Given the description of an element on the screen output the (x, y) to click on. 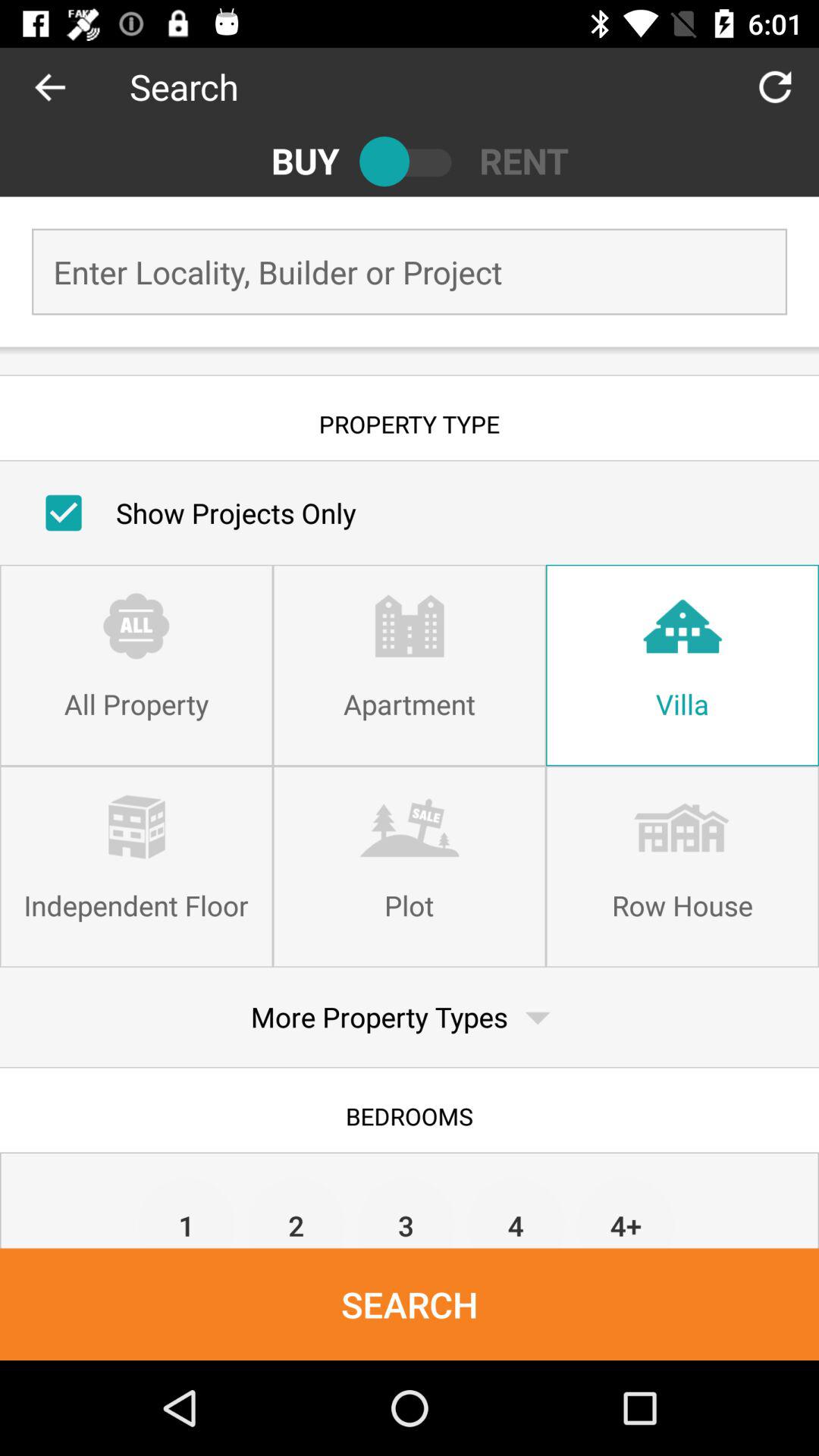
enter information (409, 271)
